Given the description of an element on the screen output the (x, y) to click on. 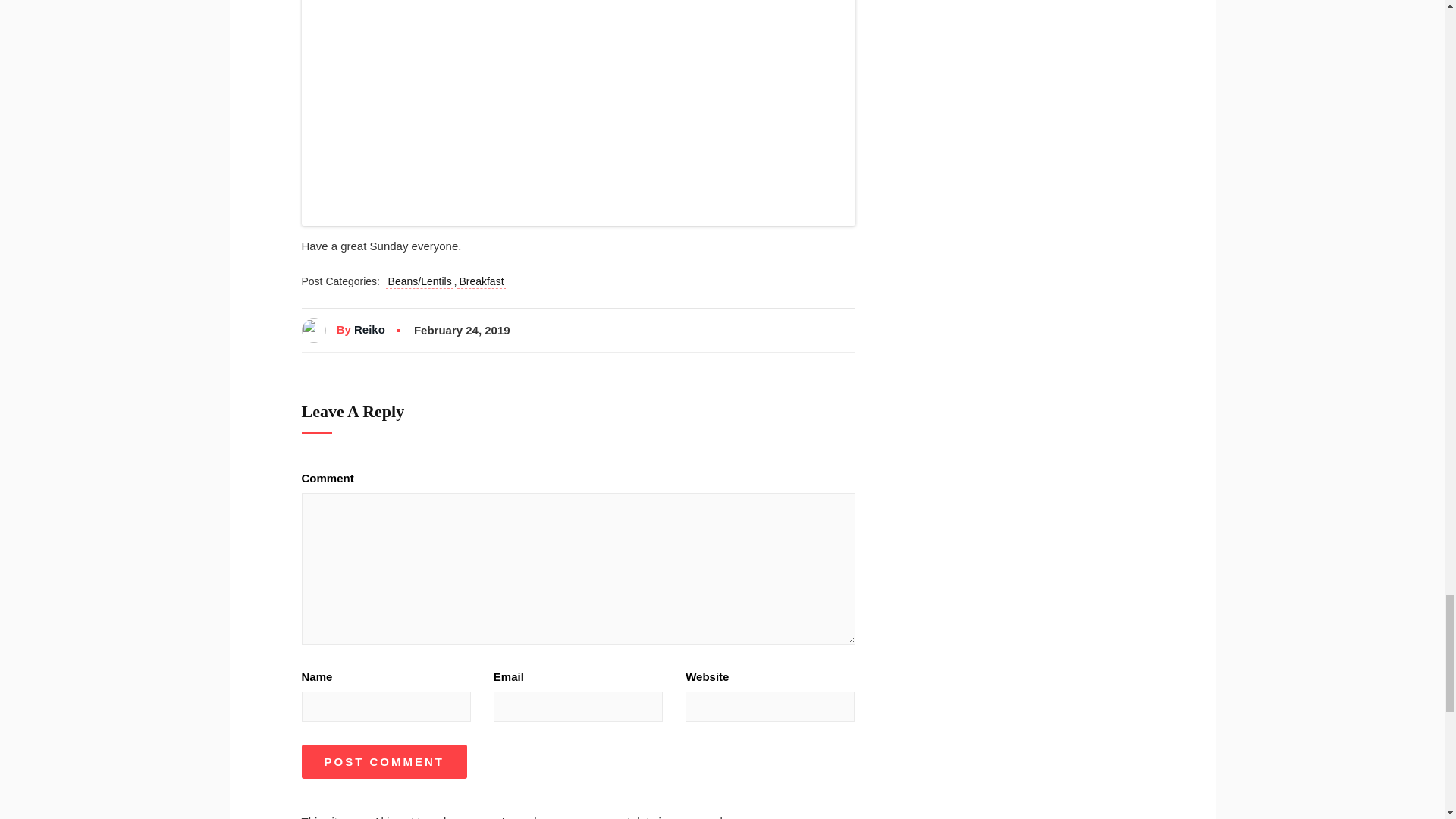
Post Comment (384, 761)
Learn how your comment data is processed (612, 816)
Reiko (369, 329)
Post Comment (384, 761)
Breakfast (481, 282)
